Given the description of an element on the screen output the (x, y) to click on. 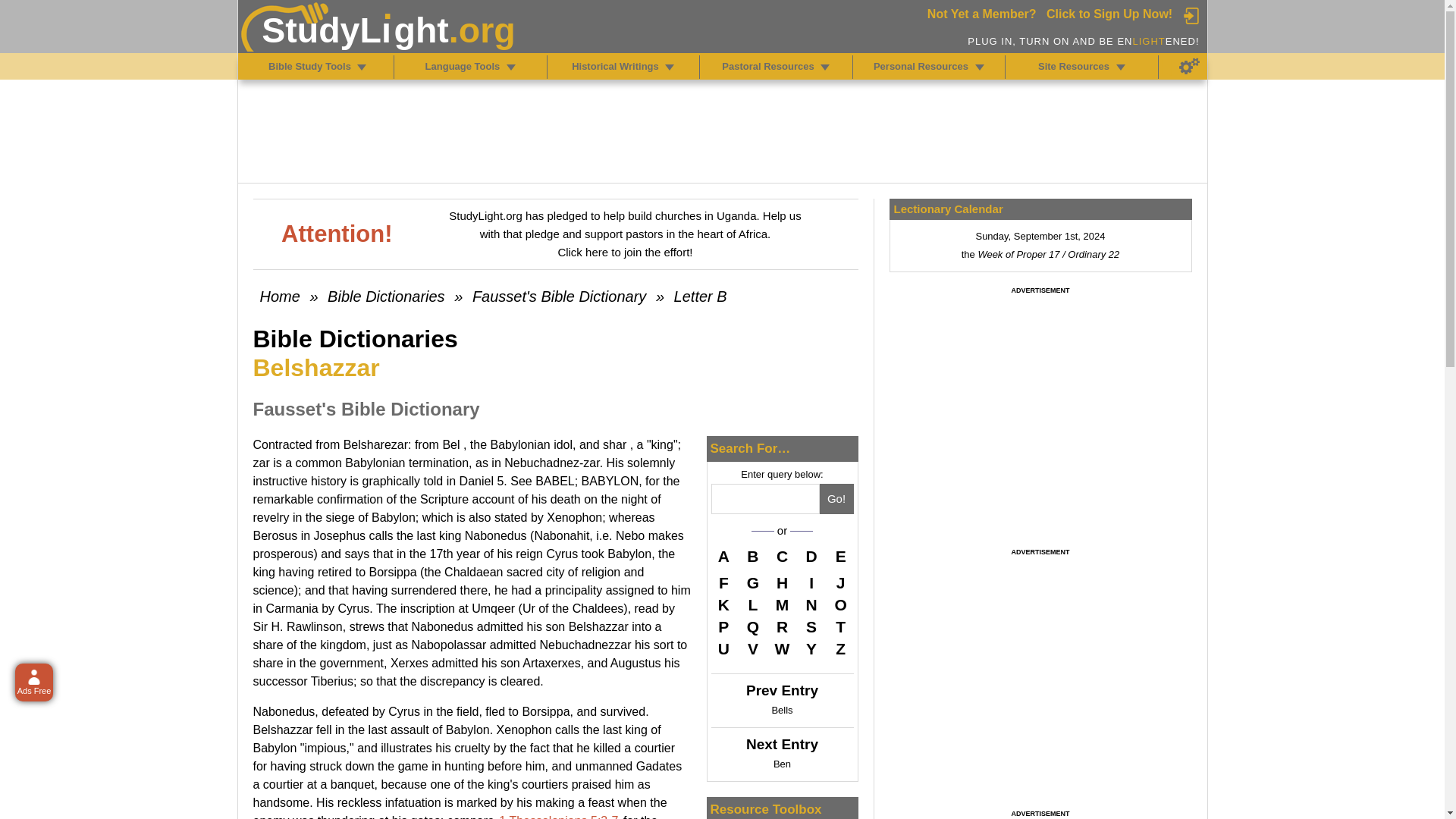
C (782, 558)
B (752, 558)
P (723, 627)
Personal Resources (979, 67)
Click here to join the effort! (625, 251)
Go! (835, 499)
Z (840, 648)
V (752, 648)
Y (810, 648)
Fausset's Bible Dictionary (558, 296)
